Given the description of an element on the screen output the (x, y) to click on. 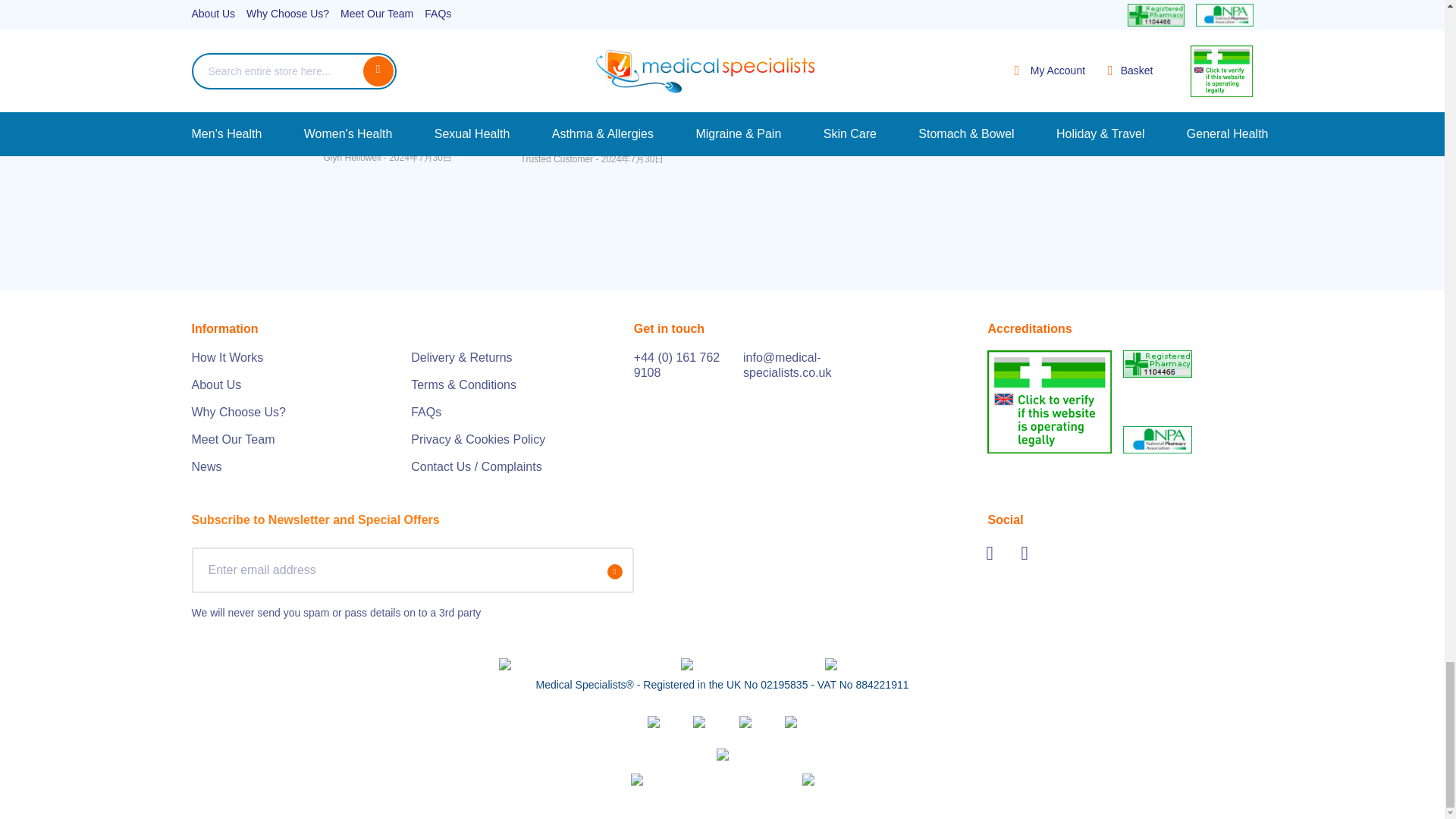
Twitter (997, 552)
Facebook (1031, 552)
Subscribe (614, 570)
